Given the description of an element on the screen output the (x, y) to click on. 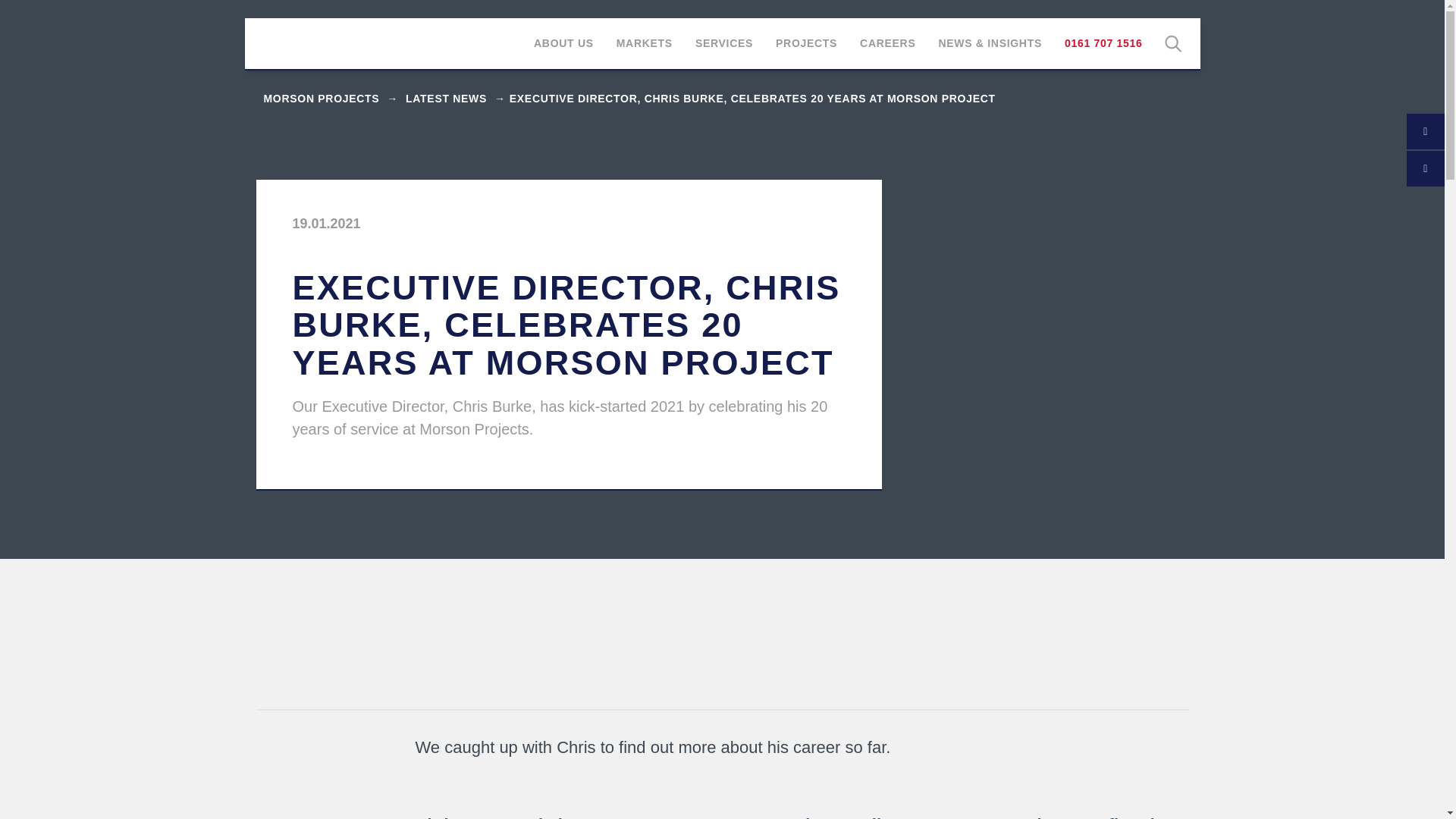
MARKETS (643, 43)
ABOUT US (564, 43)
About Us (564, 43)
